Given the description of an element on the screen output the (x, y) to click on. 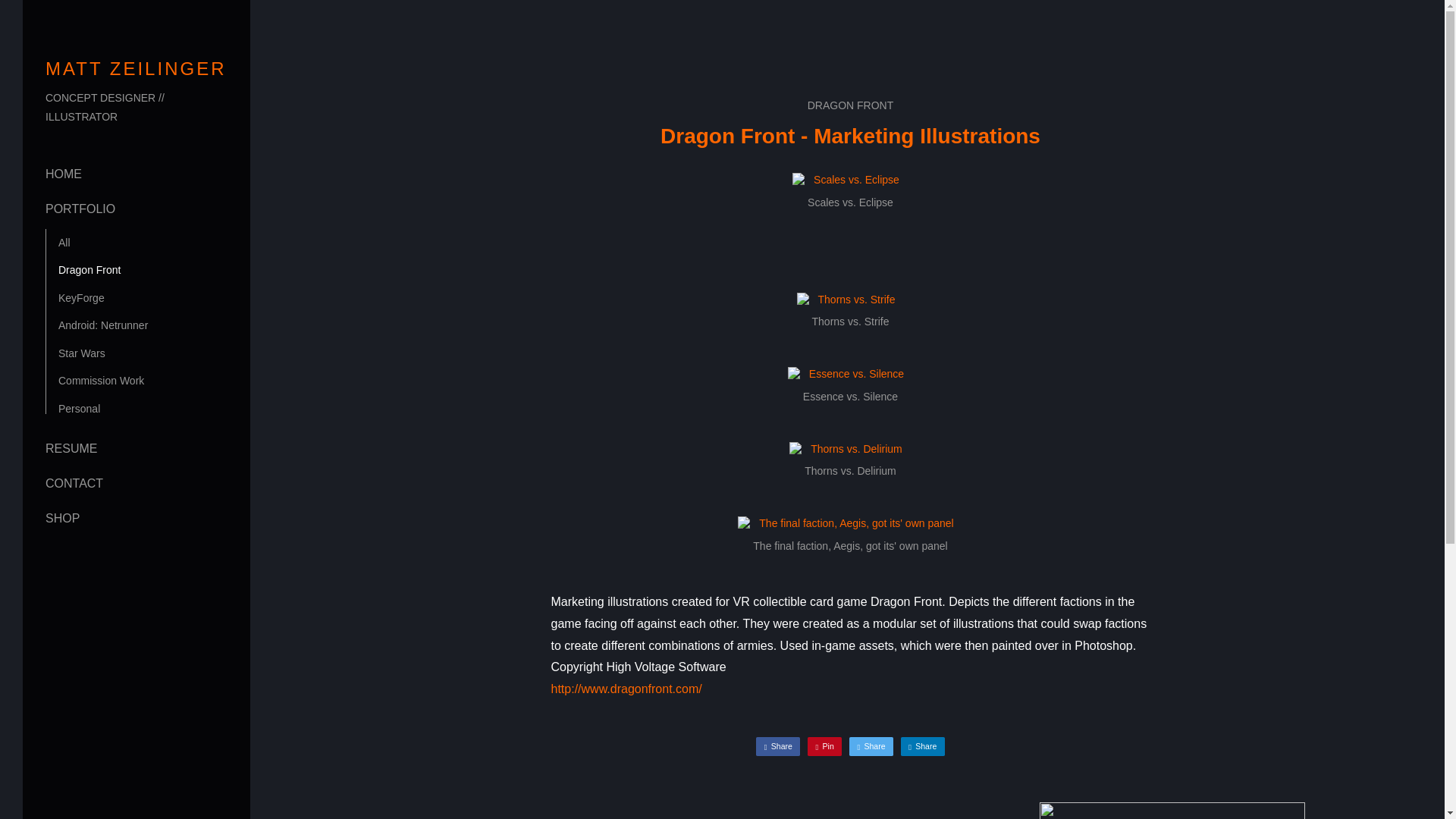
All (63, 242)
Share (528, 810)
Personal (922, 746)
PORTFOLIO (79, 408)
Commission Work (80, 208)
Star Wars (1171, 810)
RESUME (101, 380)
Share (81, 353)
